Given the description of an element on the screen output the (x, y) to click on. 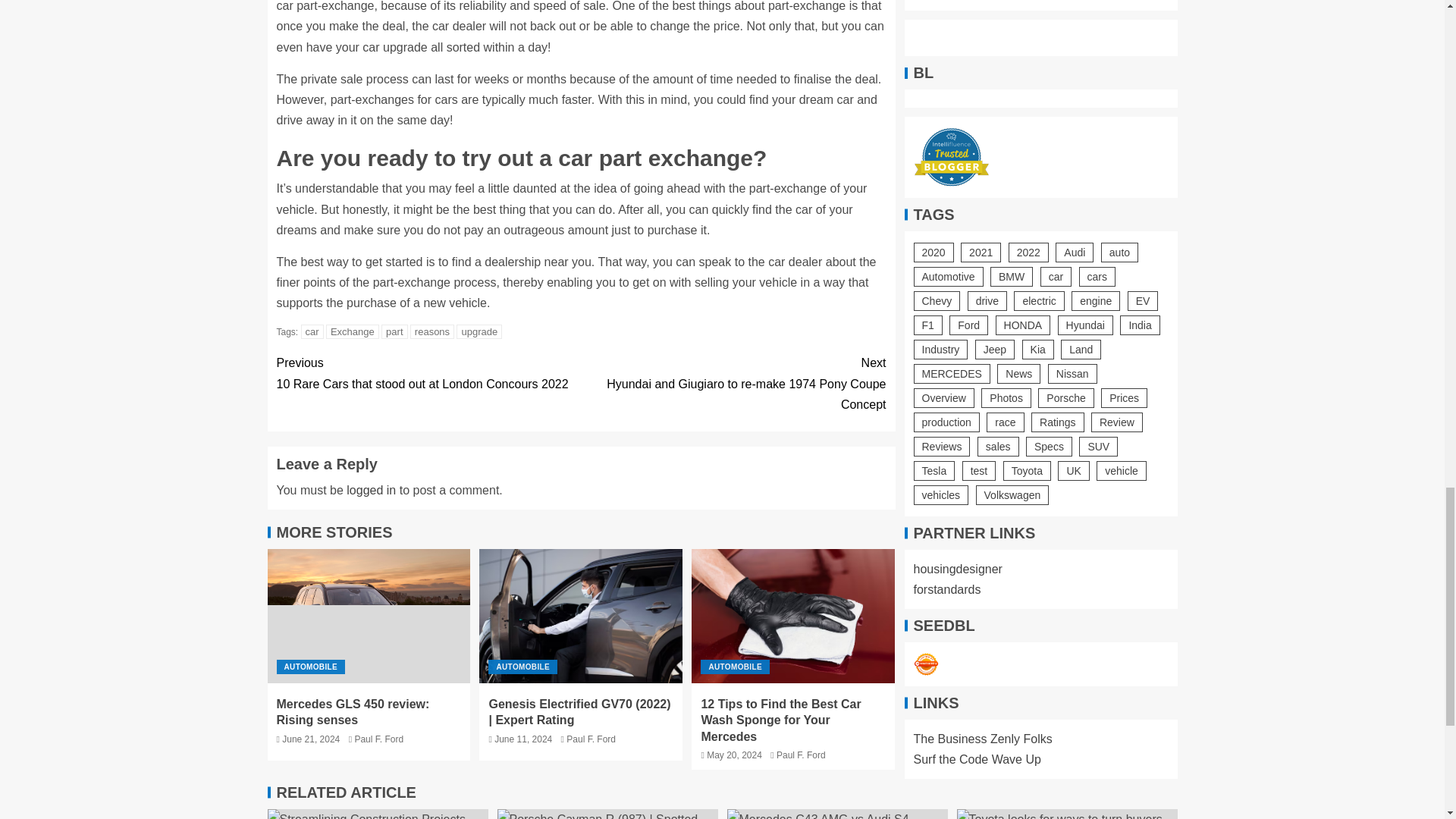
car (312, 331)
Exchange (352, 331)
Mercedes GLS 450 review: Rising senses (368, 615)
12 Tips to Find the Best Car Wash Sponge for Your Mercedes (732, 383)
part (793, 615)
upgrade (428, 372)
reasons (394, 331)
